Given the description of an element on the screen output the (x, y) to click on. 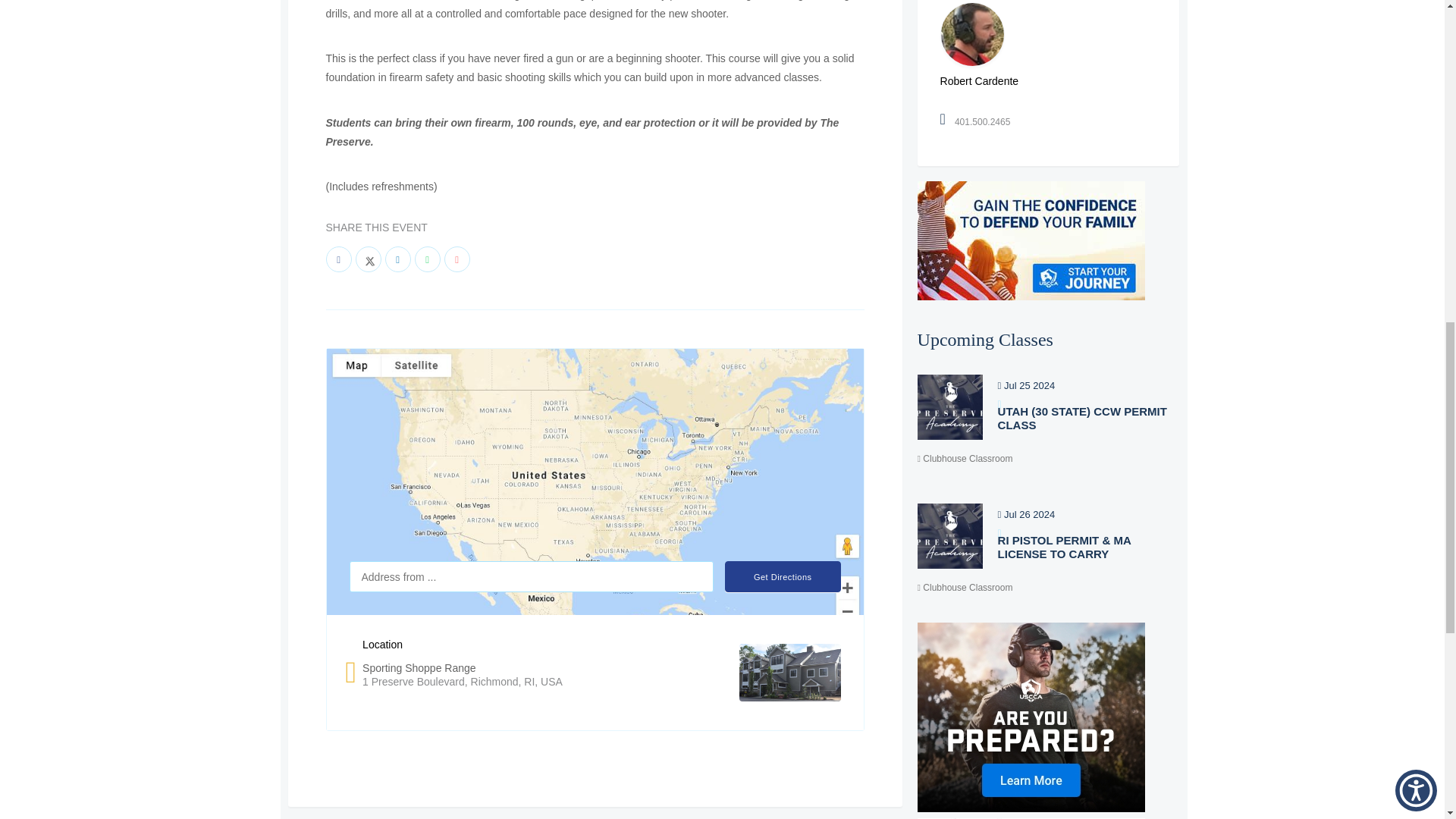
Get Directions (783, 576)
